Given the description of an element on the screen output the (x, y) to click on. 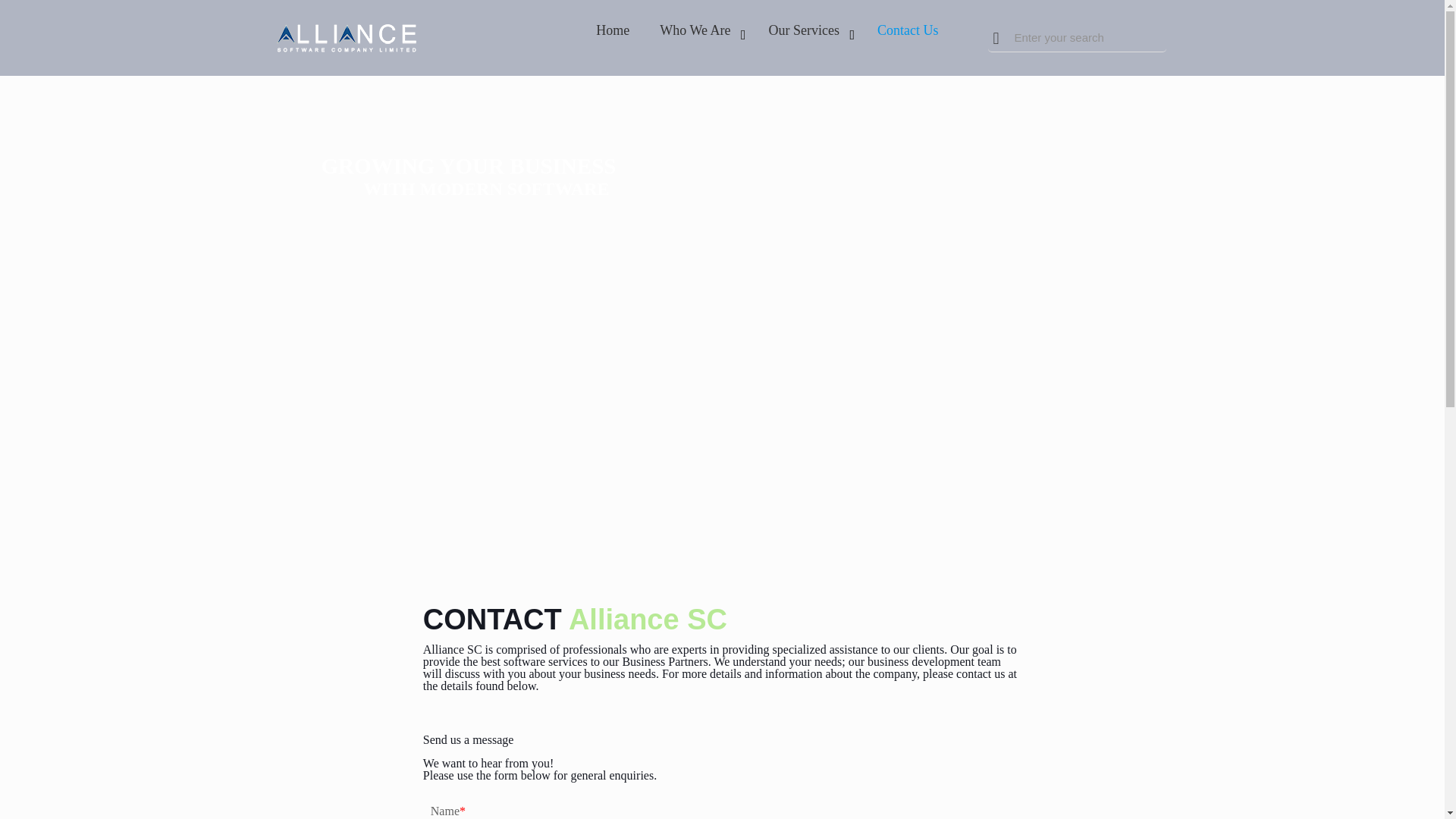
Who We Are (698, 30)
Home (612, 30)
Our Services (807, 30)
Contact Us (907, 30)
